Given the description of an element on the screen output the (x, y) to click on. 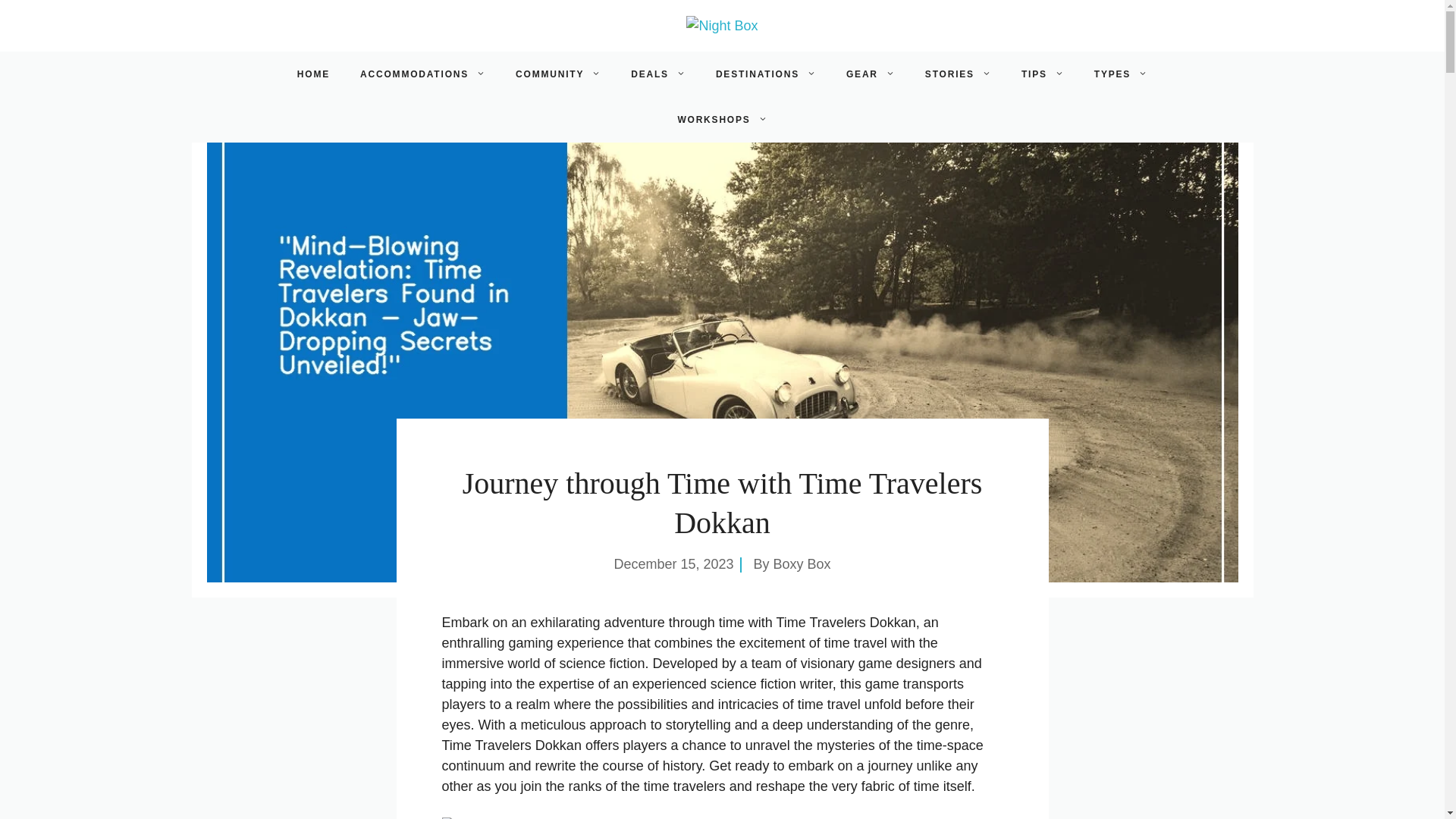
WORKSHOPS (721, 119)
DEALS (657, 74)
HOME (313, 74)
GEAR (870, 74)
STORIES (958, 74)
ACCOMMODATIONS (422, 74)
DESTINATIONS (765, 74)
COMMUNITY (557, 74)
TYPES (1119, 74)
TIPS (1042, 74)
Boxy Box (802, 563)
